Given the description of an element on the screen output the (x, y) to click on. 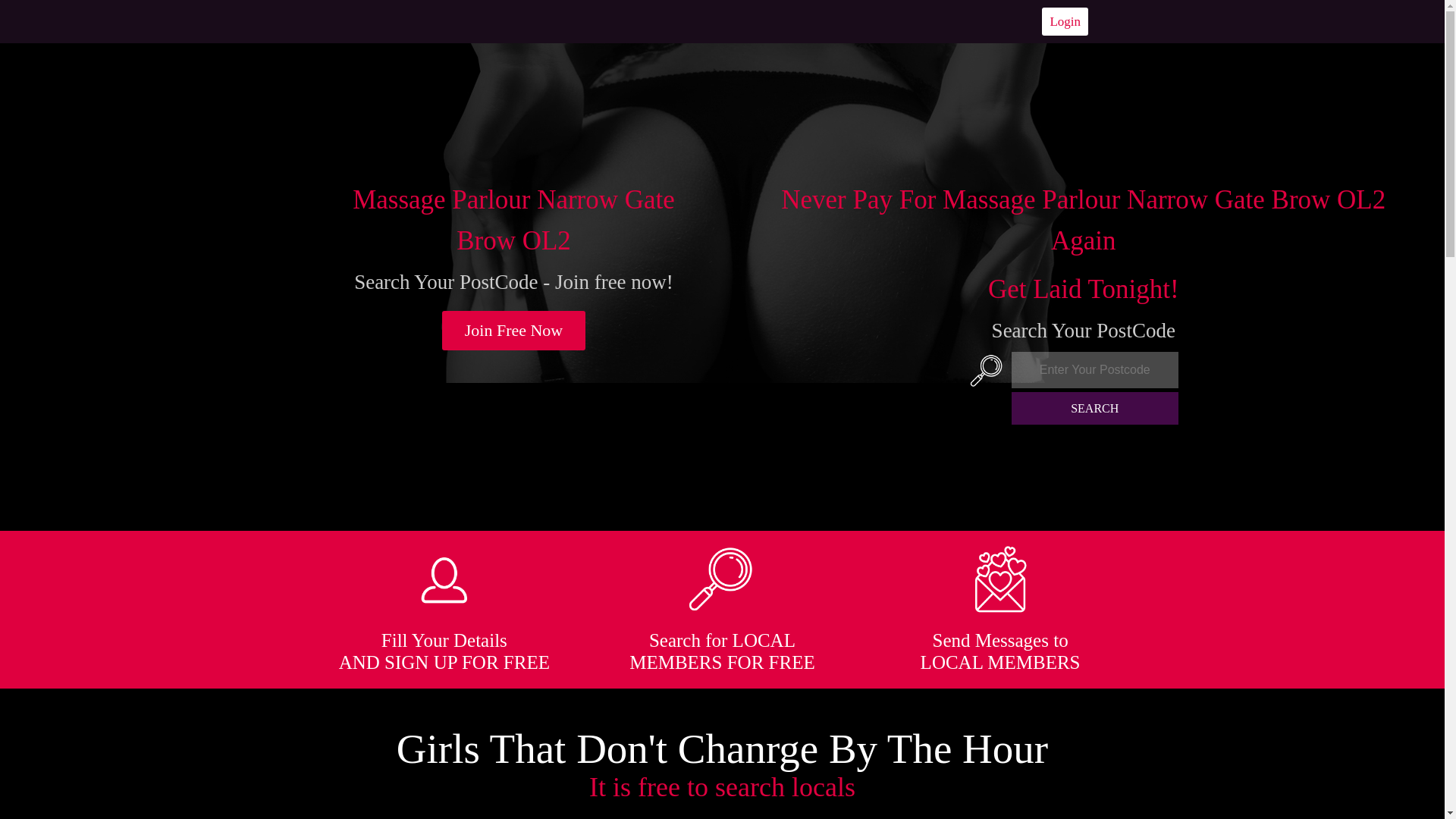
Join Free Now (514, 330)
SEARCH (1094, 408)
Login (1064, 21)
Login to massageparloursmanchester.co.uk (1064, 21)
Join (514, 330)
